Given the description of an element on the screen output the (x, y) to click on. 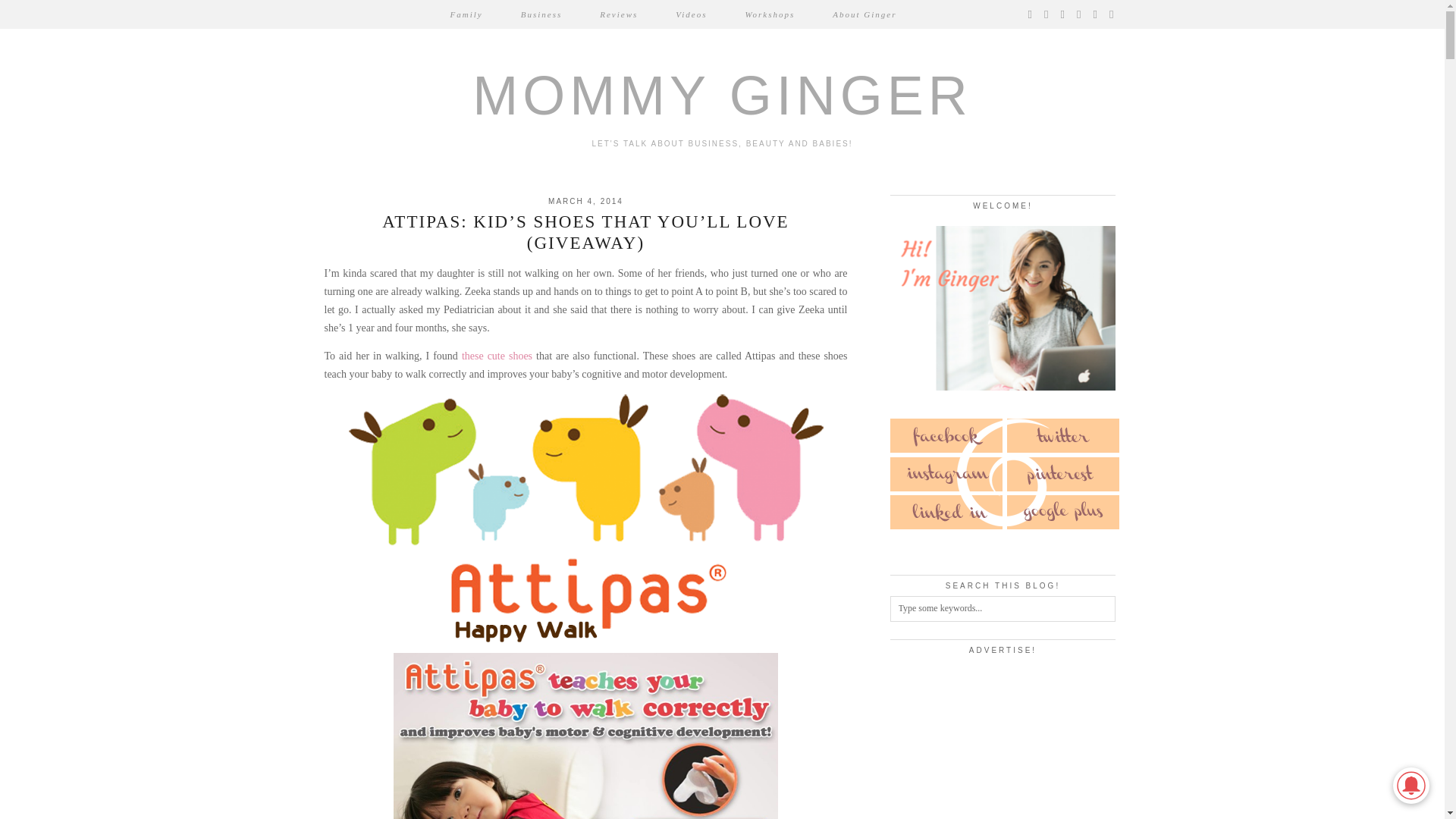
Reviews (618, 14)
Family (466, 14)
Business (541, 14)
MOMMY GINGER (721, 95)
Mommy Ginger (721, 95)
